Given the description of an element on the screen output the (x, y) to click on. 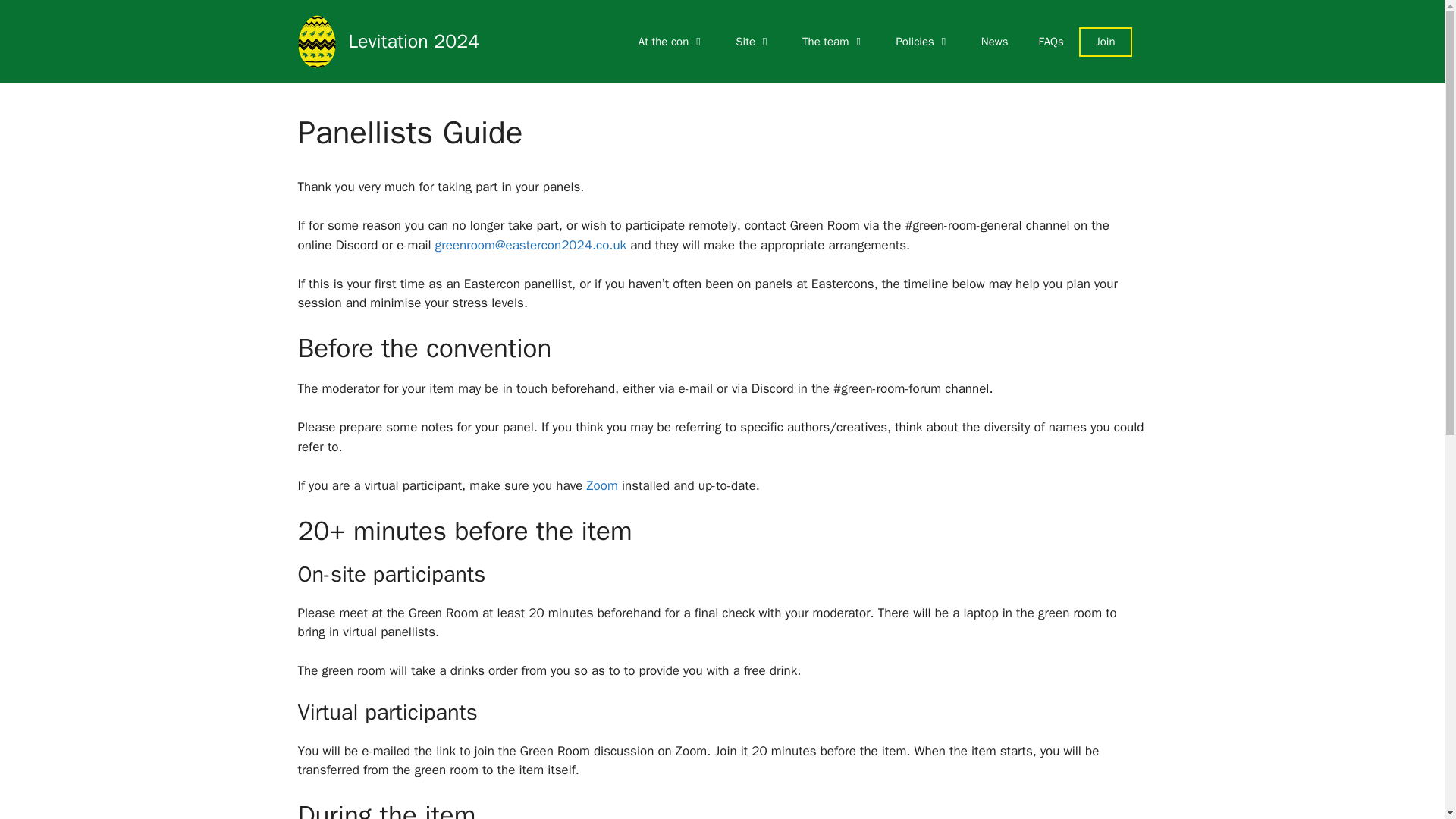
FAQs (1050, 41)
Join (1105, 41)
The team (833, 41)
At the con (671, 41)
News (994, 41)
Levitation 2024 (414, 41)
Policies (922, 41)
Site (753, 41)
Zoom (599, 485)
